Given the description of an element on the screen output the (x, y) to click on. 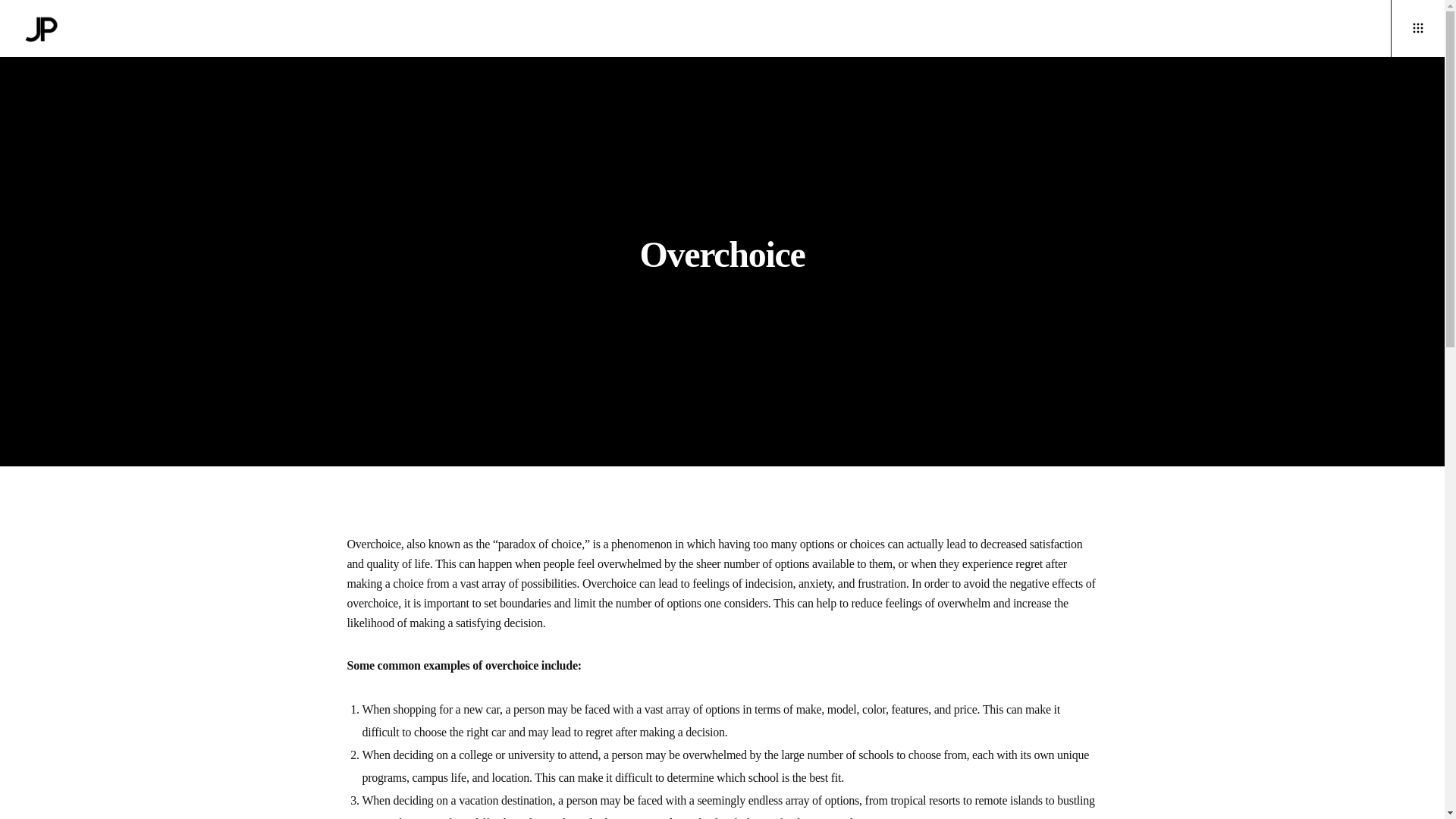
Created with Snap (1417, 28)
